Given the description of an element on the screen output the (x, y) to click on. 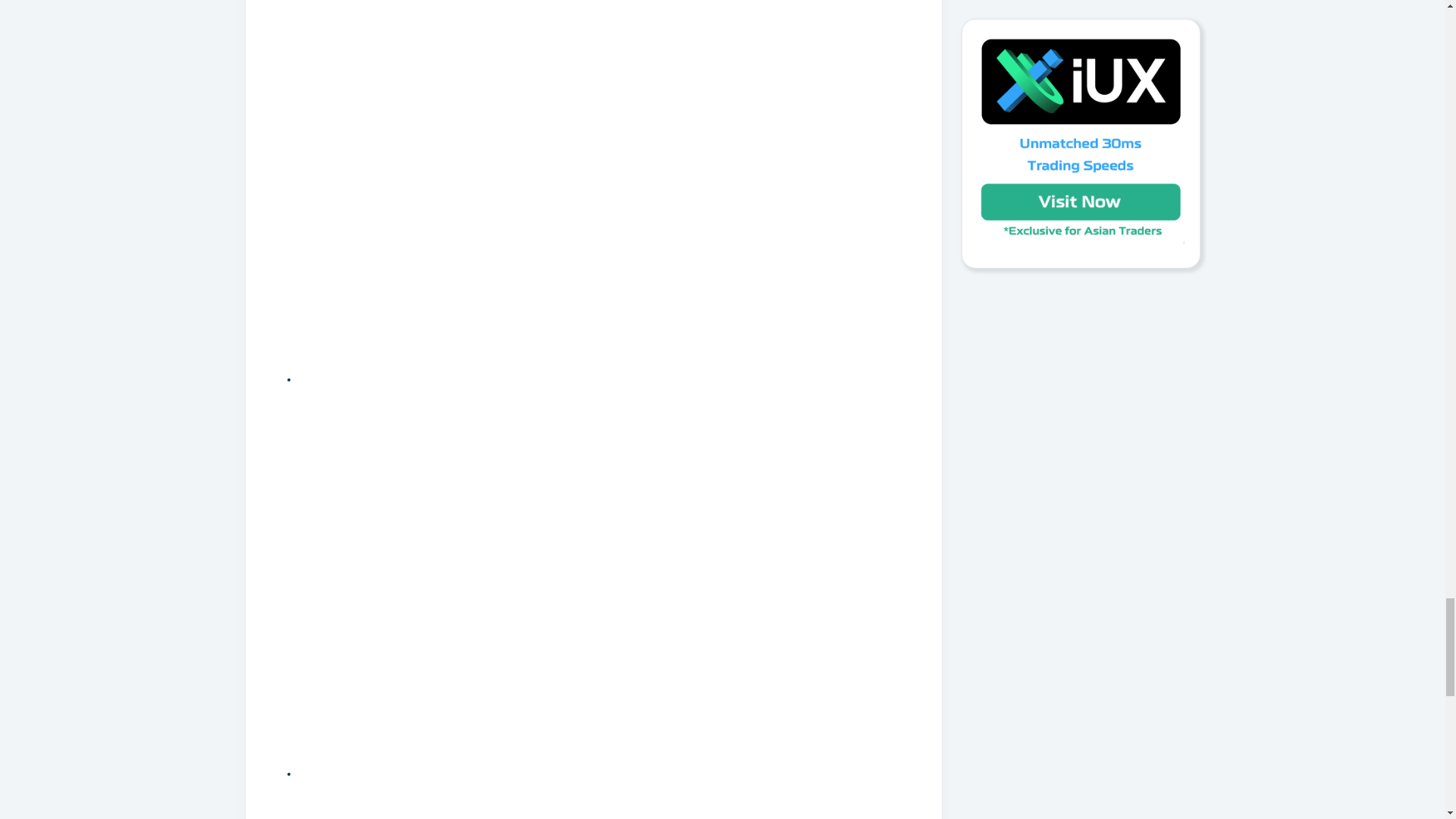
Dean Decho On Twitter (492, 773)
Send Dean Decho Mail (492, 378)
